Given the description of an element on the screen output the (x, y) to click on. 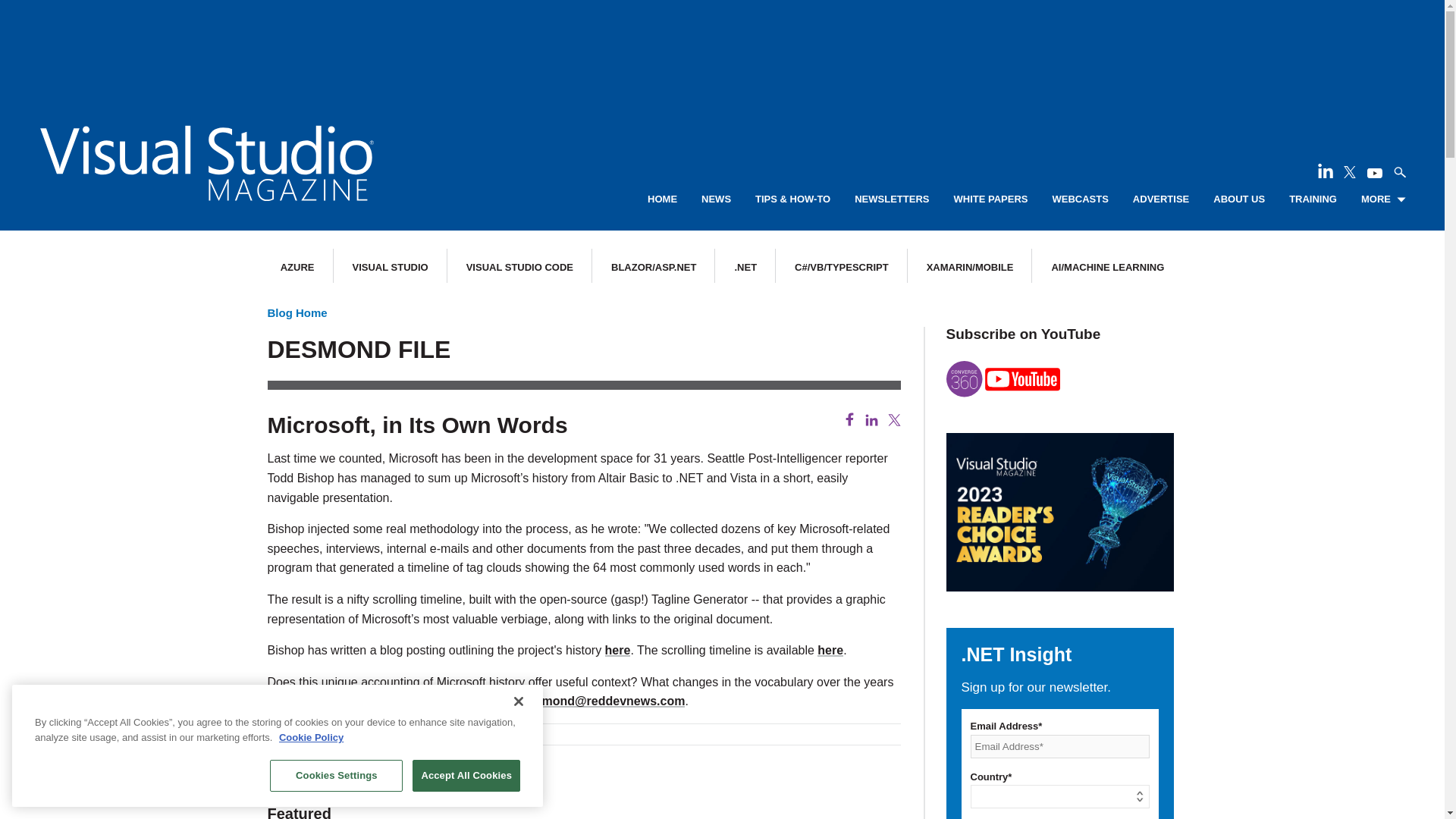
TRAINING (1312, 199)
VISUAL STUDIO (390, 266)
NEWS (715, 199)
HOME (662, 199)
AZURE (297, 266)
NEWSLETTERS (891, 199)
MORE (1383, 199)
3rd party ad content (721, 45)
VISUAL STUDIO CODE (519, 266)
.NET (745, 266)
WHITE PAPERS (990, 199)
WEBCASTS (1079, 199)
ABOUT US (1238, 199)
ADVERTISE (1160, 199)
